Given the description of an element on the screen output the (x, y) to click on. 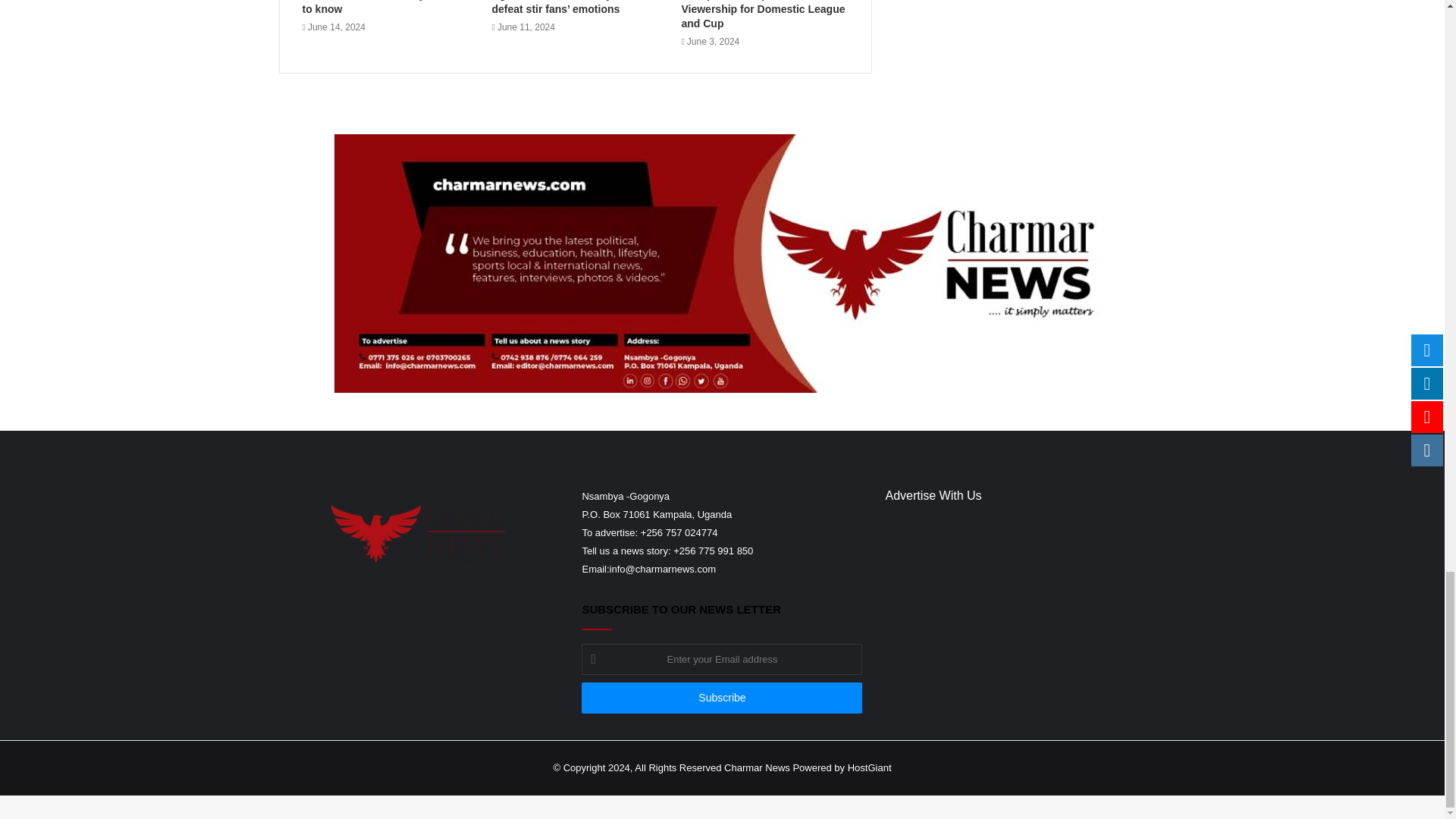
Subscribe (720, 697)
